Given the description of an element on the screen output the (x, y) to click on. 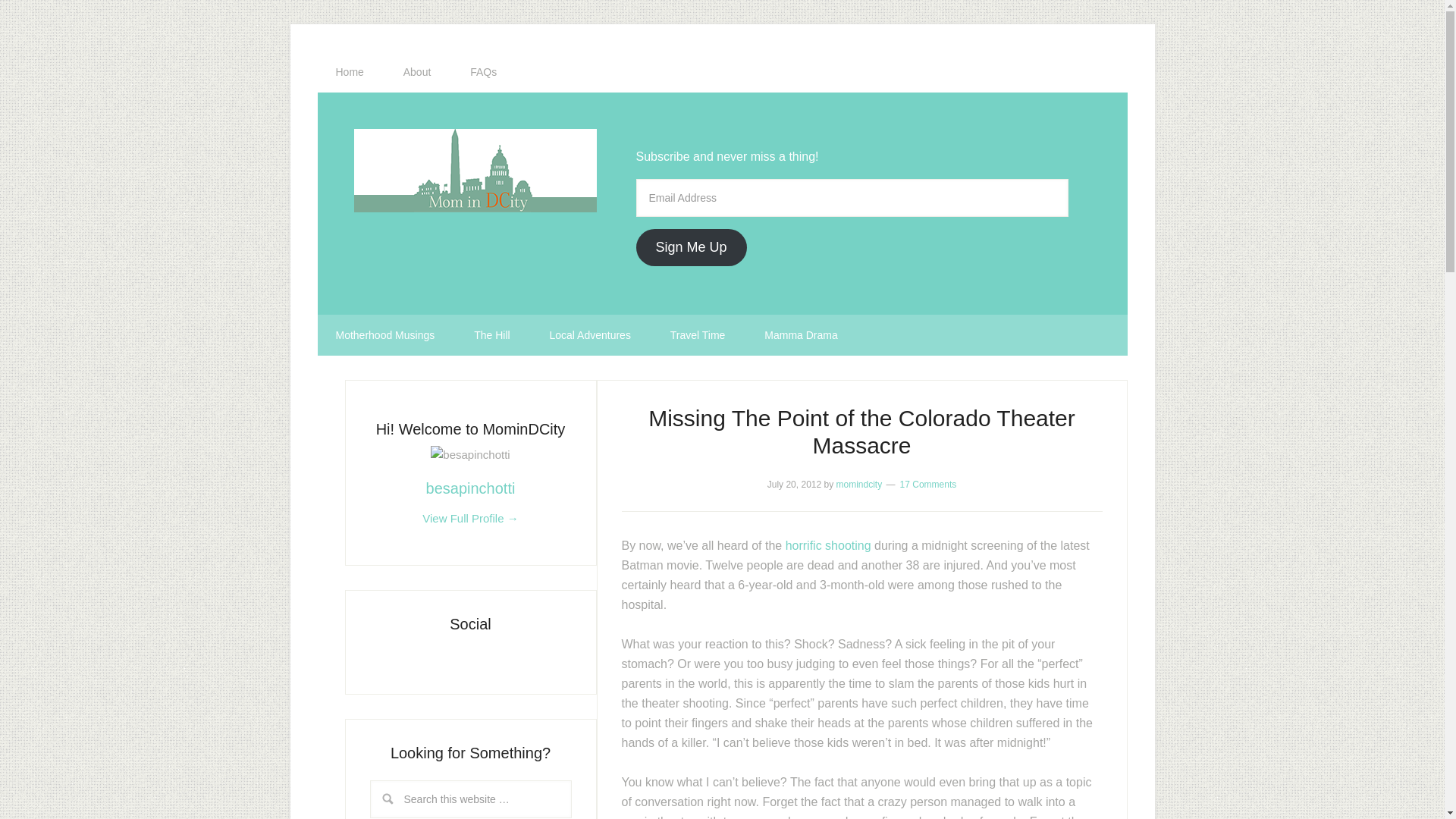
momindcity (858, 484)
besapinchotti (470, 487)
Sign Me Up (689, 247)
FAQs (483, 71)
17 Comments (927, 484)
Home (349, 71)
About (417, 71)
horrific shooting (828, 544)
The Hill (491, 334)
Motherhood Musings (384, 334)
Missing The Point of the Colorado Theater Massacre (861, 431)
Mamma Drama (800, 334)
Mom in DCity (474, 170)
